Given the description of an element on the screen output the (x, y) to click on. 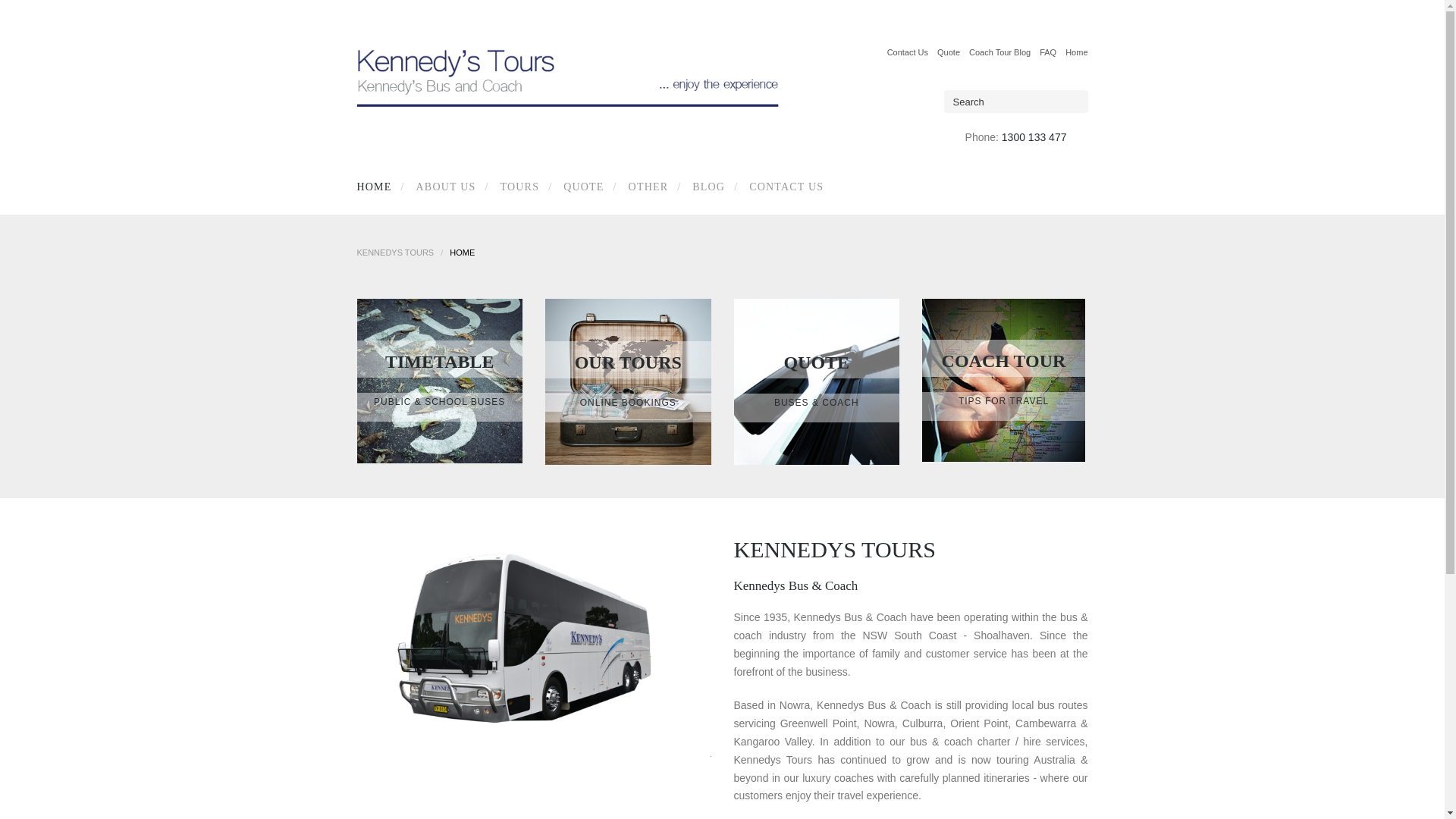
BLOG Element type: text (705, 187)
Home Element type: text (1076, 51)
QUOTE Element type: text (580, 187)
Coach Tour Blog Element type: text (999, 51)
ABOUT US Element type: text (443, 187)
Search Element type: text (28, 13)
TIPS FOR TRAVEL Element type: text (1003, 401)
HOME Element type: text (378, 187)
BUSES & COACH Element type: text (817, 402)
QUOTE Element type: text (817, 362)
CONTACT US Element type: text (783, 187)
1300 133 477 Element type: text (1033, 137)
OTHER Element type: text (645, 187)
TIMETABLE Element type: text (439, 361)
TOURS Element type: text (517, 187)
COACH TOUR Element type: text (1003, 360)
ONLINE BOOKINGS Element type: text (628, 402)
Quote Element type: text (948, 51)
OUR TOURS Element type: text (628, 362)
KENNEDYS TOURS Element type: text (394, 252)
Contact Us Element type: text (907, 51)
PUBLIC & SCHOOL BUSES Element type: text (439, 401)
FAQ Element type: text (1047, 51)
